Given the description of an element on the screen output the (x, y) to click on. 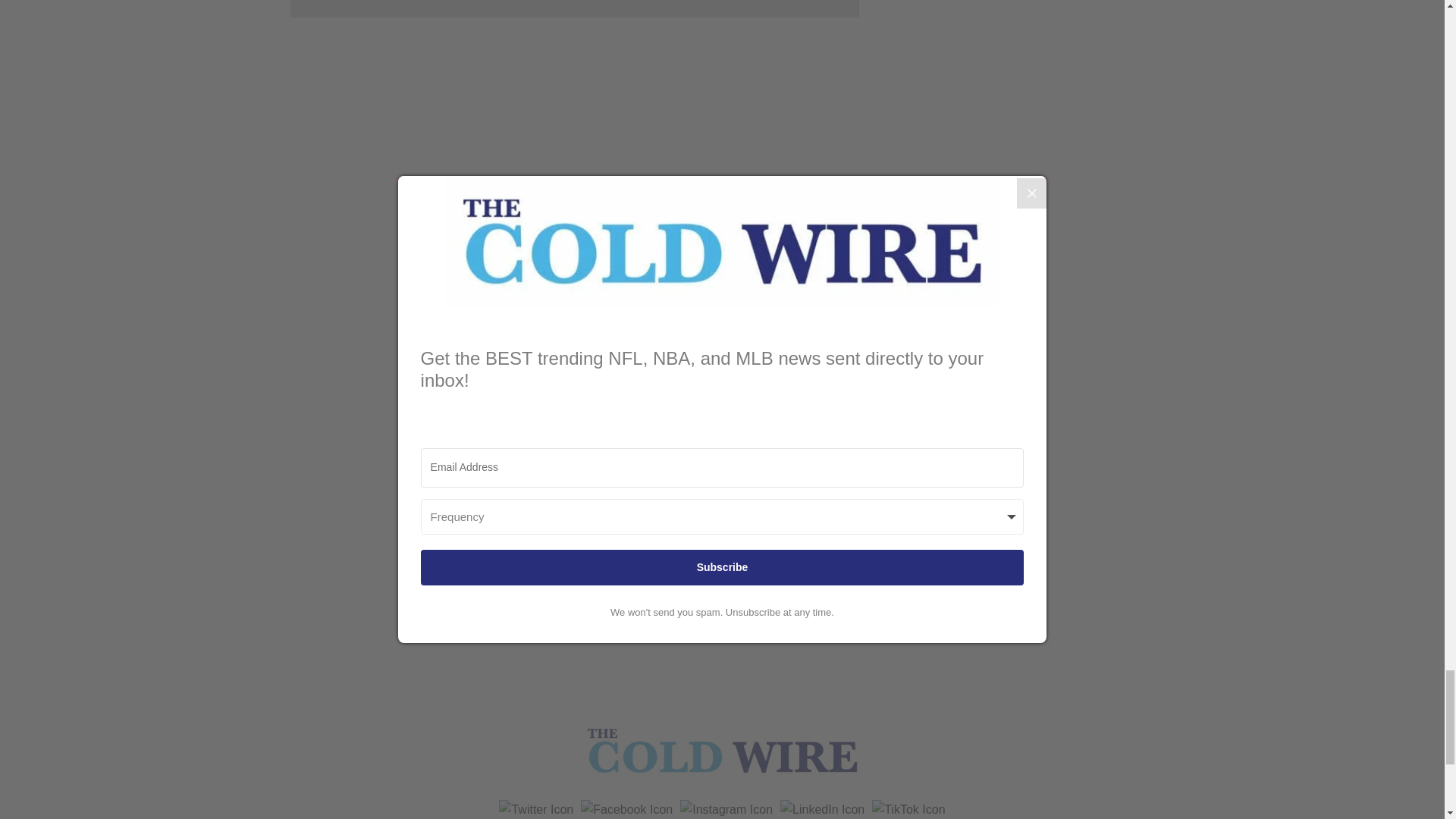
Post Comment (574, 8)
